Given the description of an element on the screen output the (x, y) to click on. 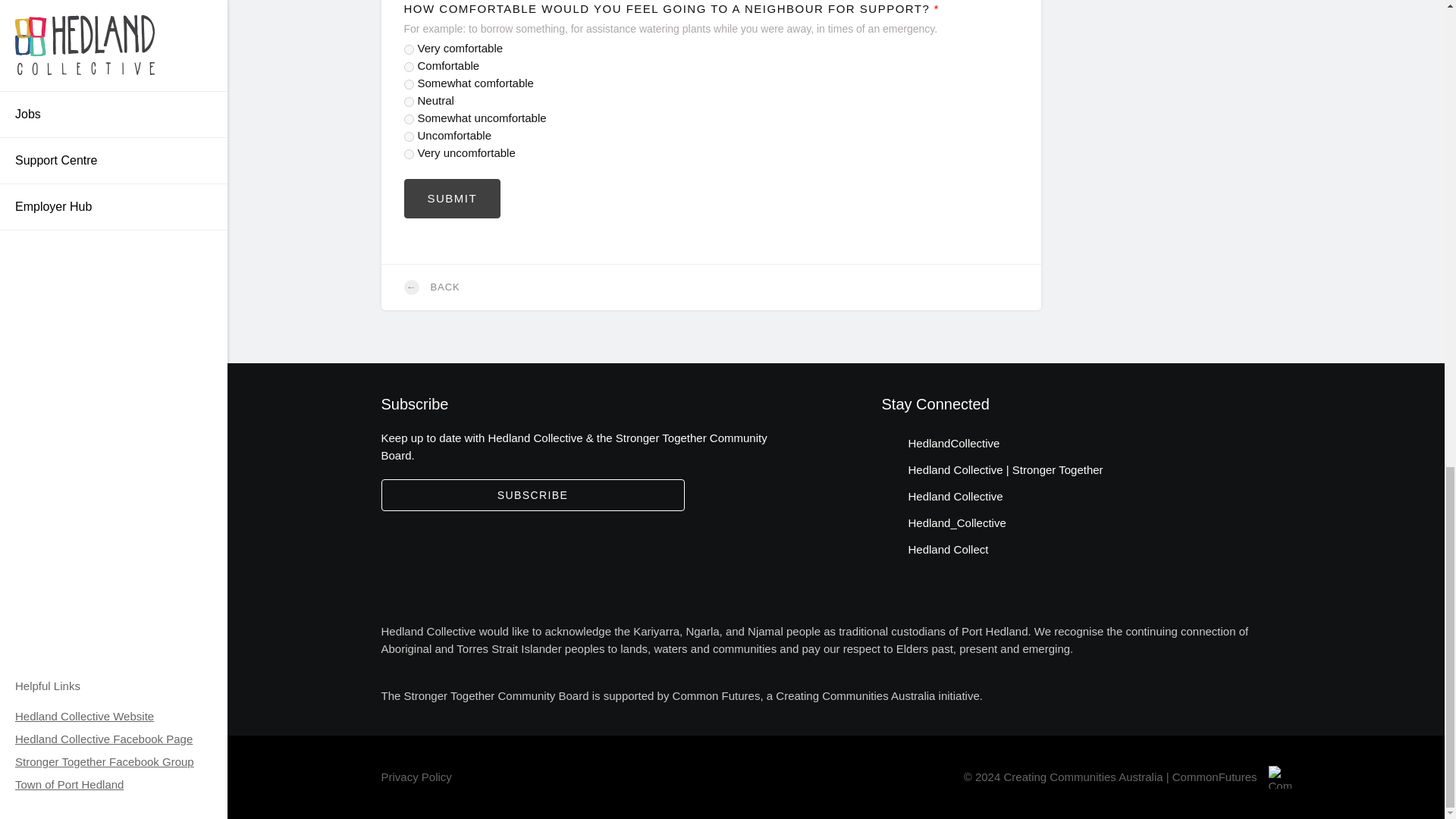
Neutral (408, 102)
SUBMIT (451, 198)
Creating Communities Australia (855, 695)
Back to Connect With Your Community (710, 287)
SUBSCRIBE (532, 495)
Hedland Collect (934, 549)
Hedland Collective (941, 496)
Privacy Policy (415, 776)
Hedland Collect Hedland Collective (934, 549)
Subscribe (532, 495)
